Given the description of an element on the screen output the (x, y) to click on. 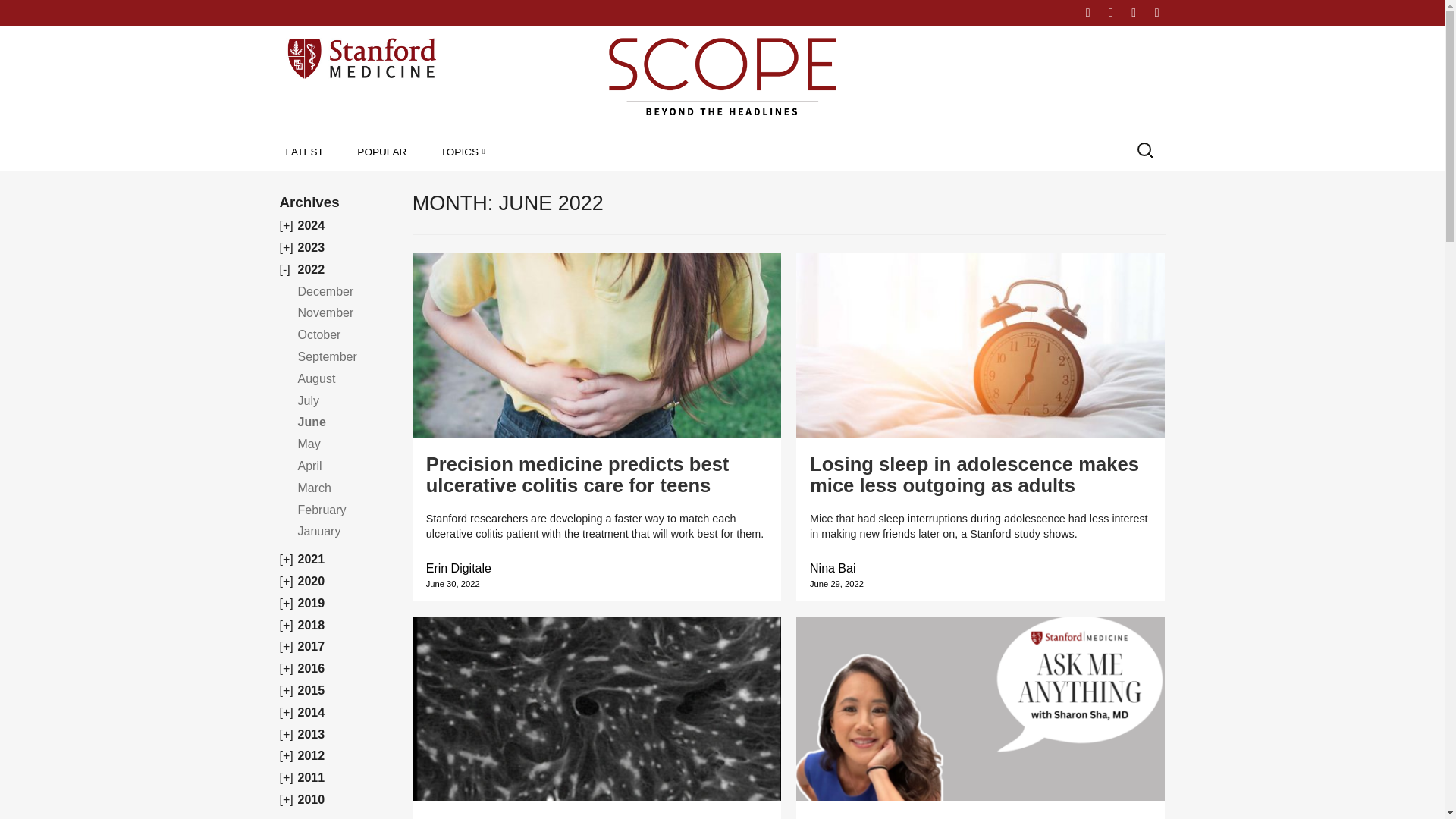
LATEST (304, 152)
POPULAR (381, 152)
Search (26, 12)
MEDICAL RESEARCH (527, 186)
Nina Bai (832, 567)
TOPICS (462, 152)
Erin Digitale (459, 567)
ABOUT (1043, 12)
